Given the description of an element on the screen output the (x, y) to click on. 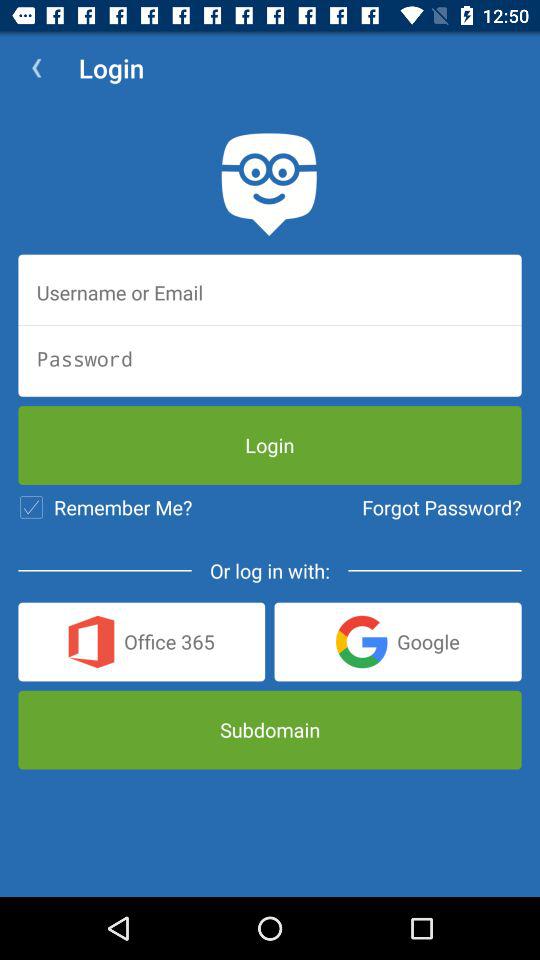
enter password (269, 358)
